Given the description of an element on the screen output the (x, y) to click on. 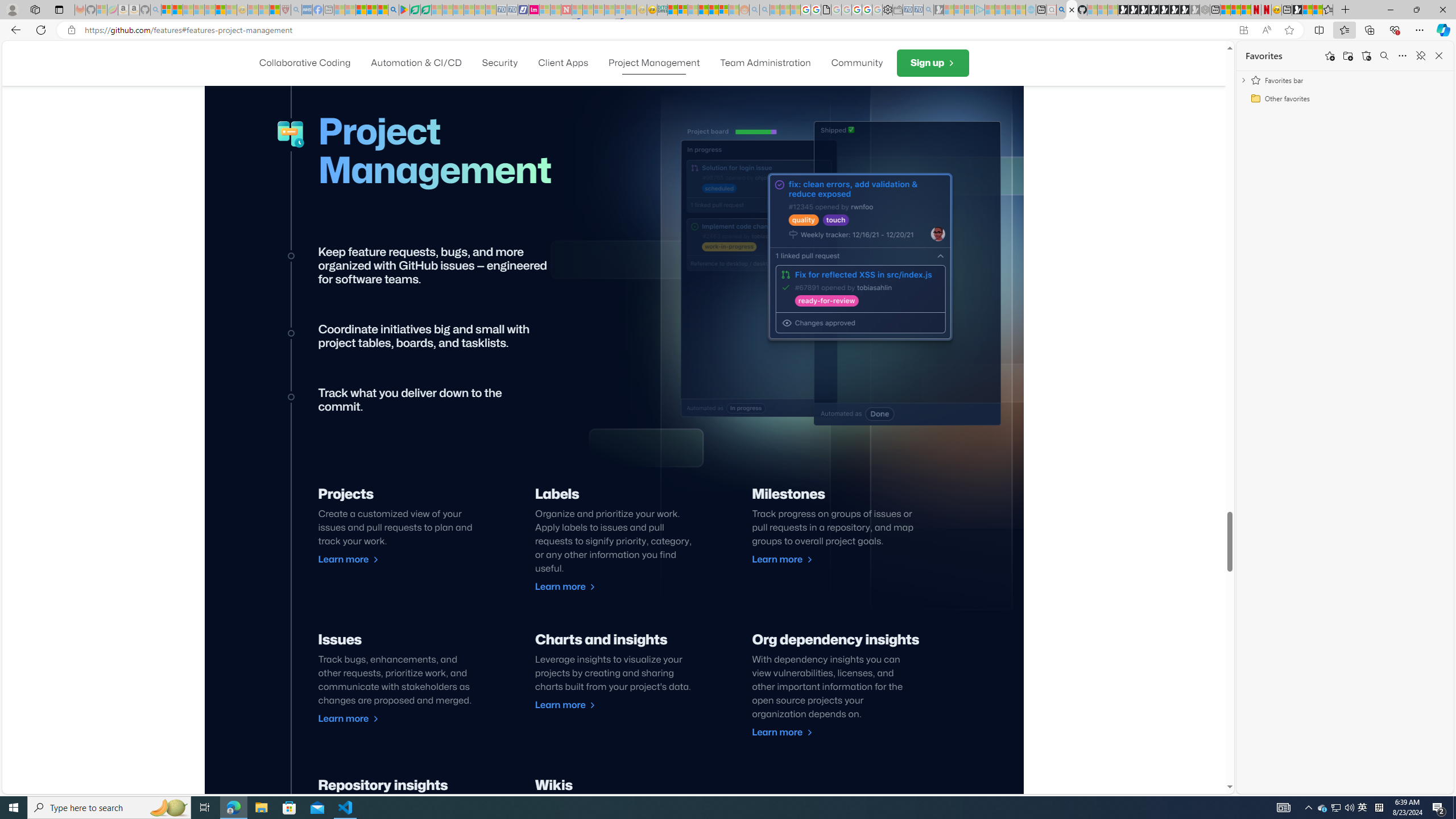
Kinda Frugal - MSN (713, 9)
Collaborative Coding (304, 62)
Security (499, 62)
New tab - Sleeping (328, 9)
Read aloud this page (Ctrl+Shift+U) (1266, 29)
New tab (1286, 9)
Client Apps (563, 62)
Microsoft account | Privacy (682, 9)
MSNBC - MSN (672, 9)
Latest Politics News & Archive | Newsweek.com - Sleeping (566, 9)
